Given the description of an element on the screen output the (x, y) to click on. 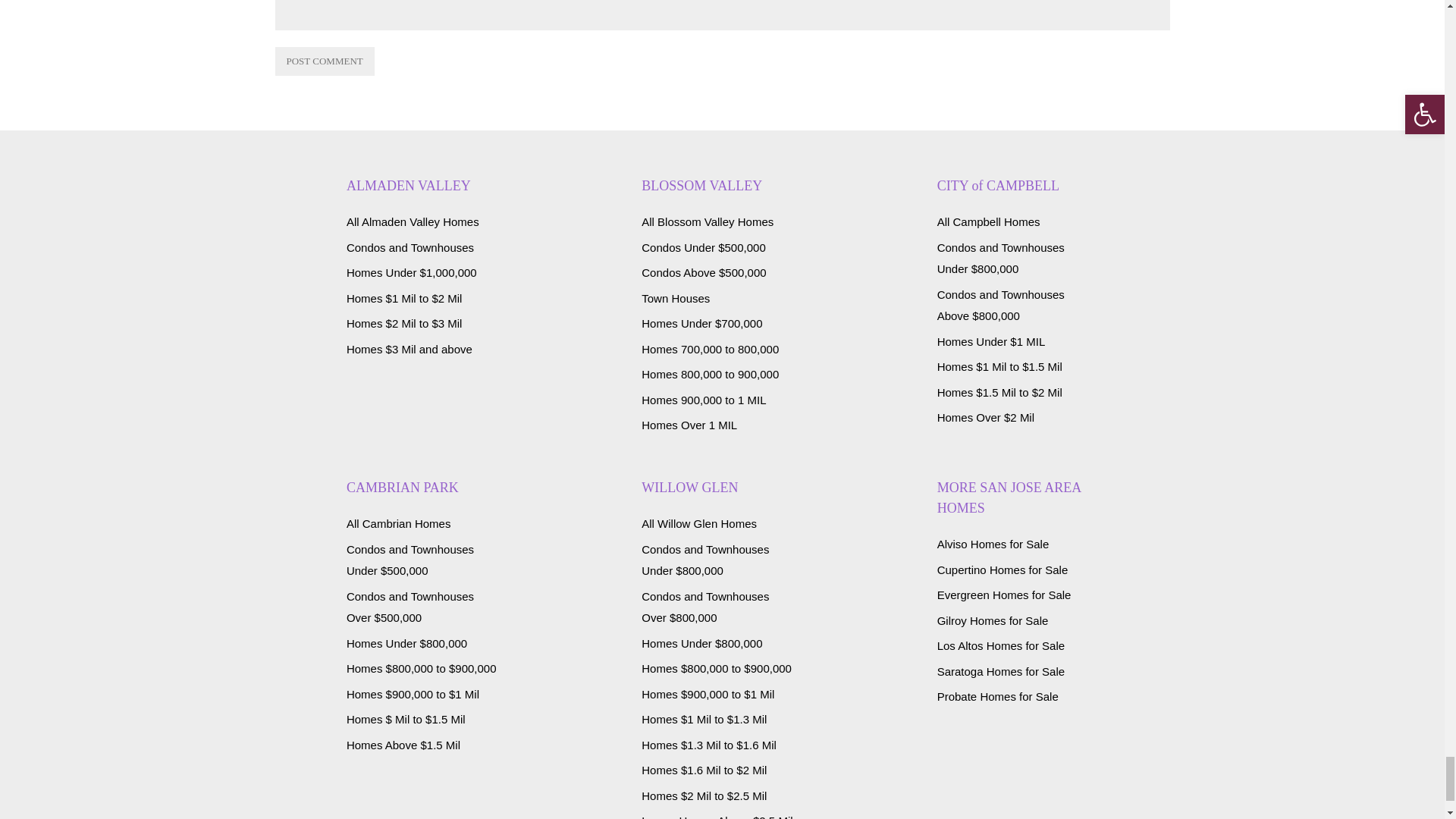
Post Comment (324, 61)
